Given the description of an element on the screen output the (x, y) to click on. 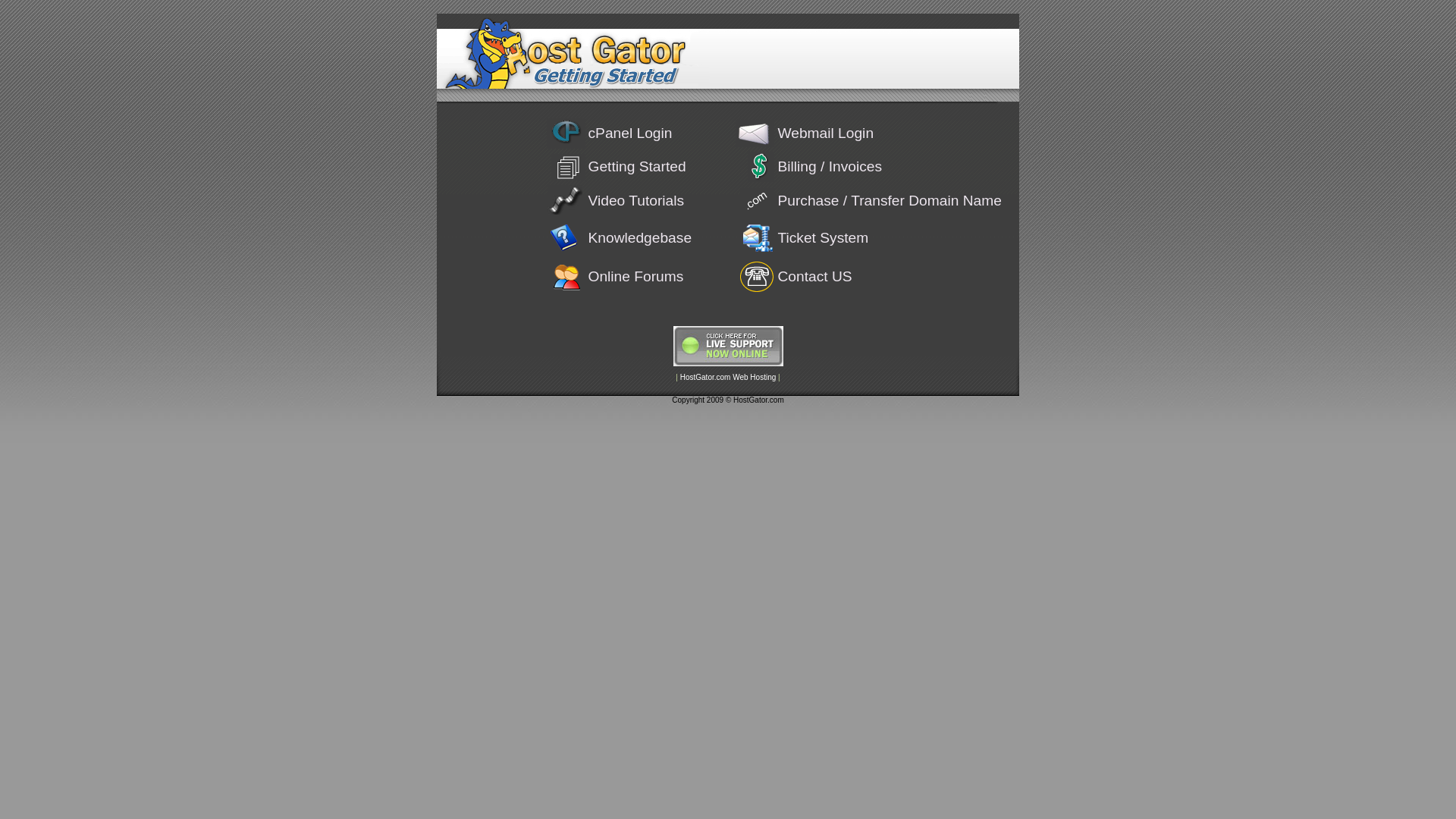
Contact US Element type: text (814, 276)
Getting Started Element type: text (637, 166)
Online Forums Element type: text (636, 276)
Webmail Login Element type: text (825, 133)
HostGator.com Web Hosting Element type: text (728, 377)
Knowledgebase Element type: text (640, 237)
Billing / Invoices Element type: text (829, 166)
Purchase / Transfer Domain Name Element type: text (889, 200)
Video Tutorials Element type: text (636, 200)
cPanel Login Element type: text (630, 133)
Ticket System Element type: text (822, 237)
